Given the description of an element on the screen output the (x, y) to click on. 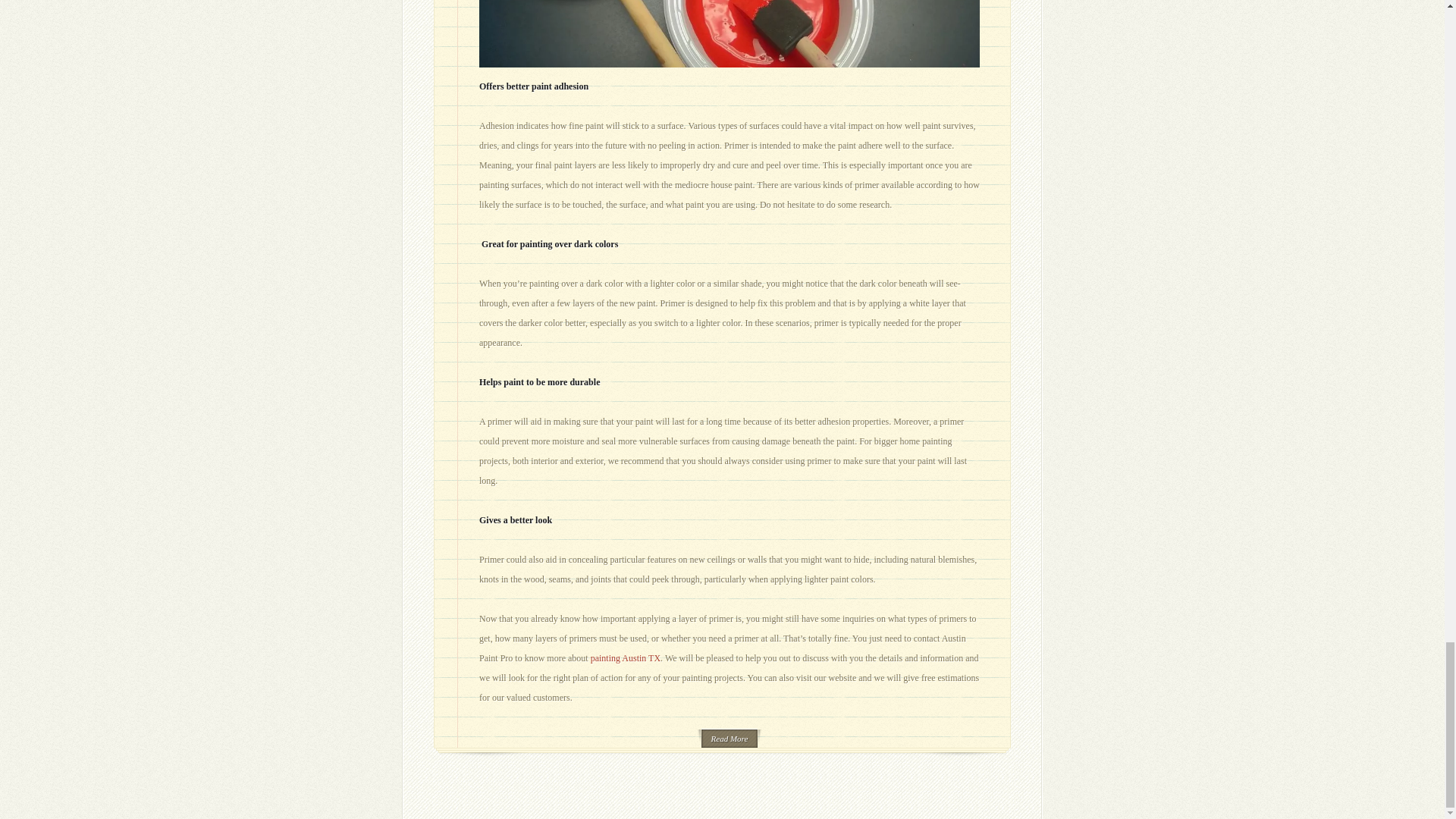
Read More (729, 737)
painting Austin TX (626, 657)
